Given the description of an element on the screen output the (x, y) to click on. 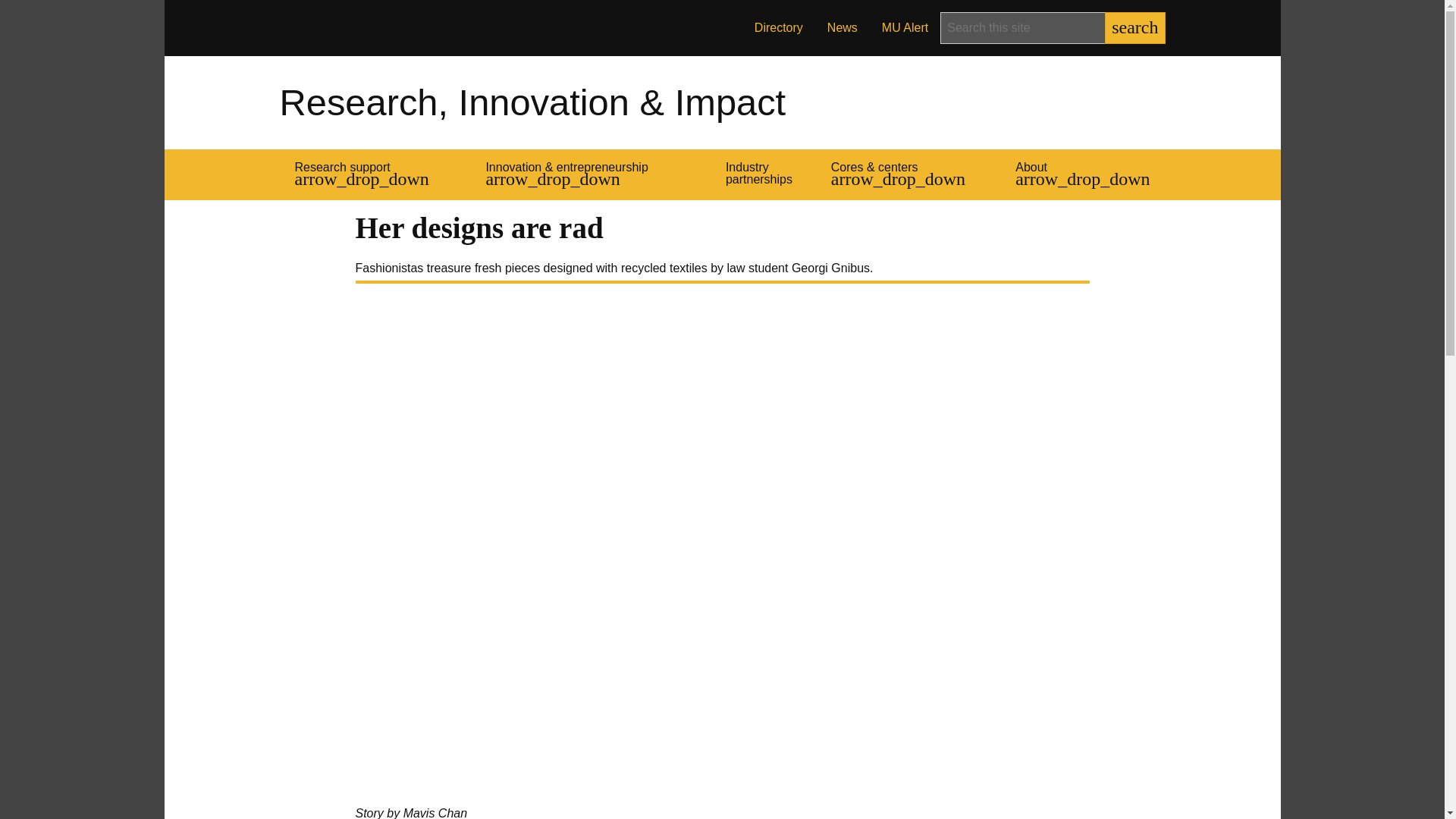
News (842, 28)
search (1134, 28)
University of Missouri (358, 27)
Directory (778, 28)
Industry partnerships (762, 174)
MU Alert (904, 28)
University of Missouri (358, 26)
